Given the description of an element on the screen output the (x, y) to click on. 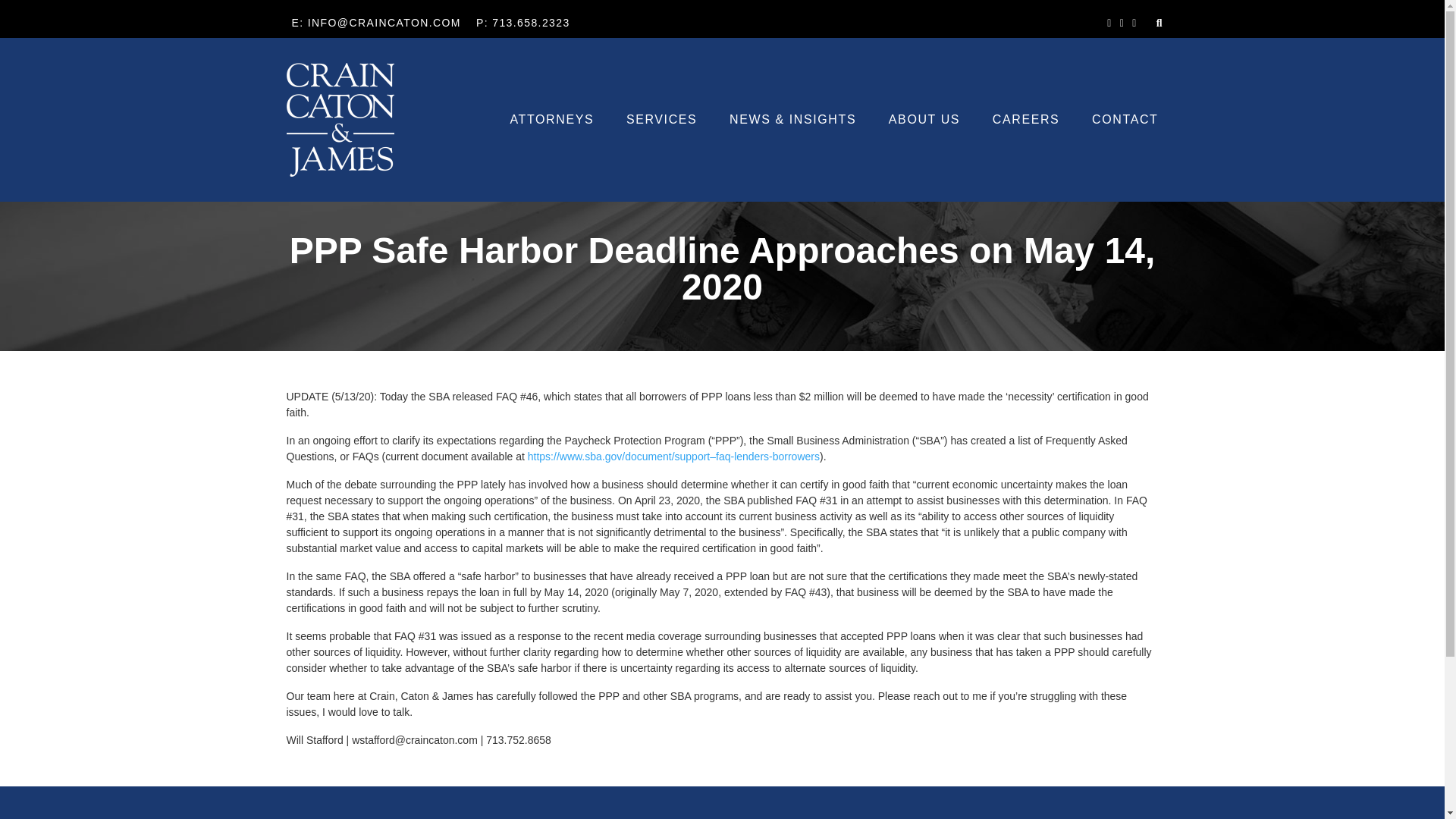
P: 713.658.2323 (523, 22)
